Given the description of an element on the screen output the (x, y) to click on. 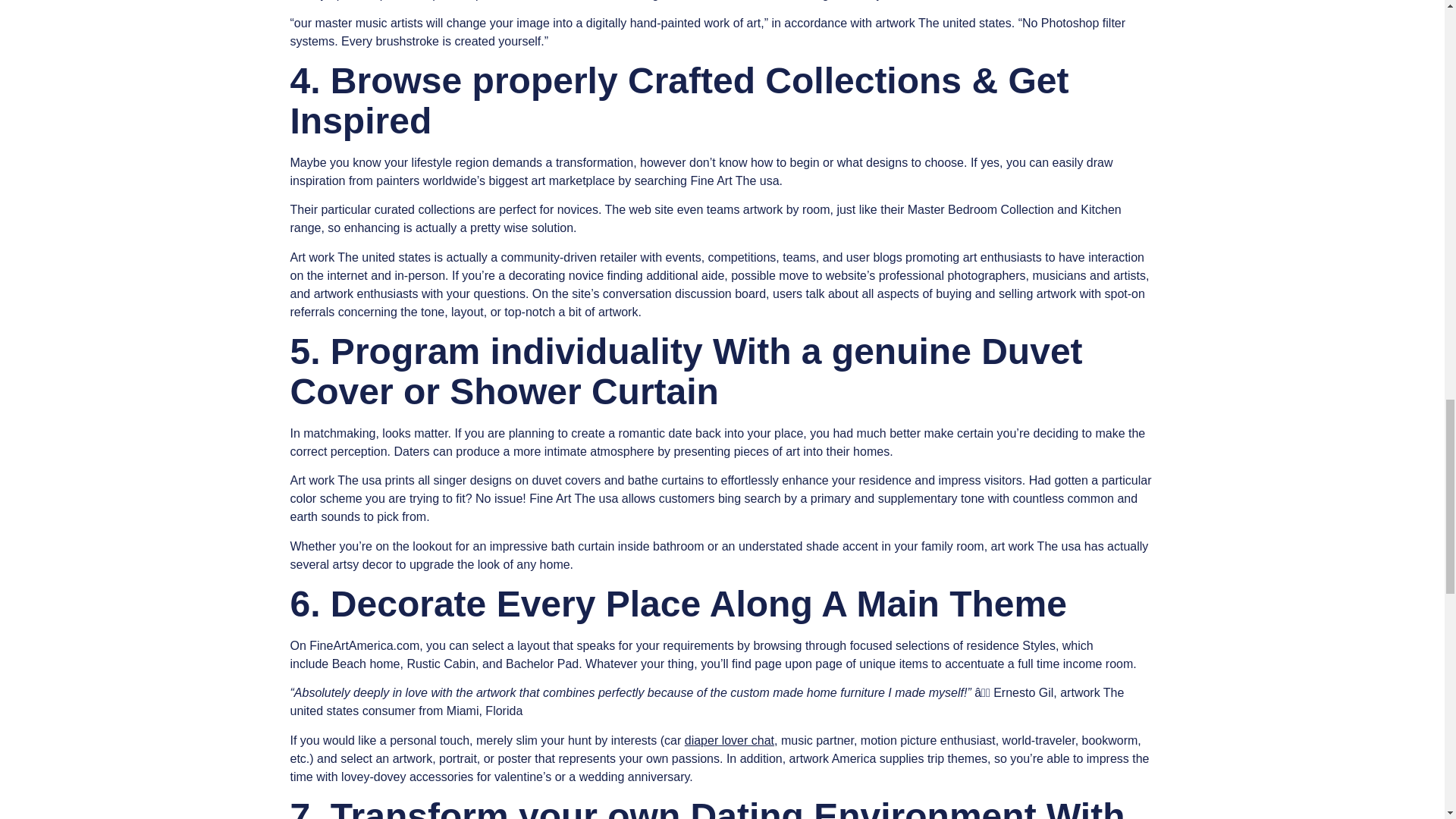
diaper lover chat (729, 739)
